Given the description of an element on the screen output the (x, y) to click on. 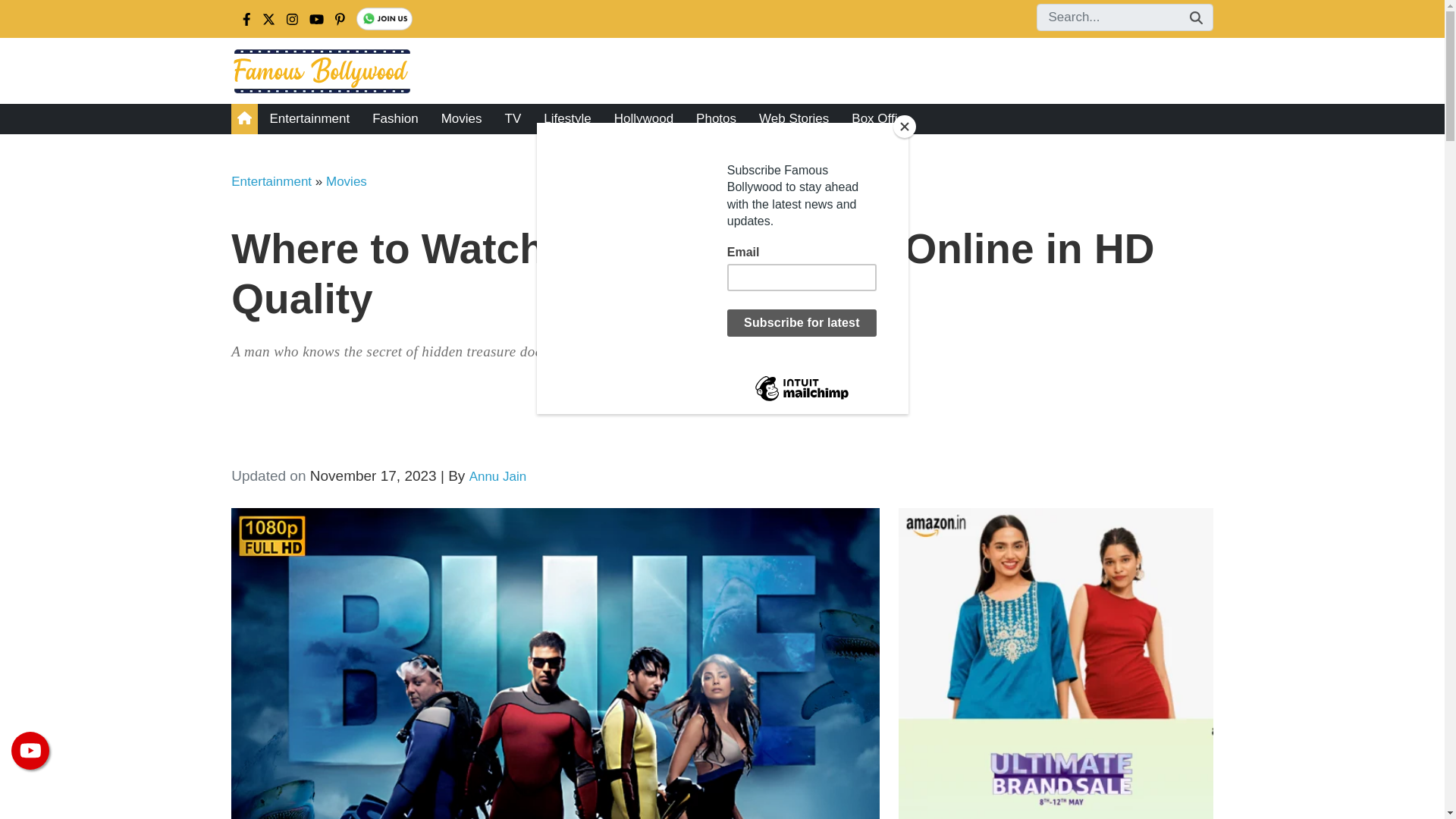
Movies (346, 181)
Annu Jain (497, 476)
Movies (461, 118)
Box Office (880, 118)
Search for: (1123, 17)
TV (512, 118)
Lifestyle (567, 118)
Photos (716, 118)
Fashion (395, 118)
Entertainment (271, 181)
Web Stories (794, 118)
Advertisement (686, 418)
Entertainment (309, 118)
Hollywood (643, 118)
